Given the description of an element on the screen output the (x, y) to click on. 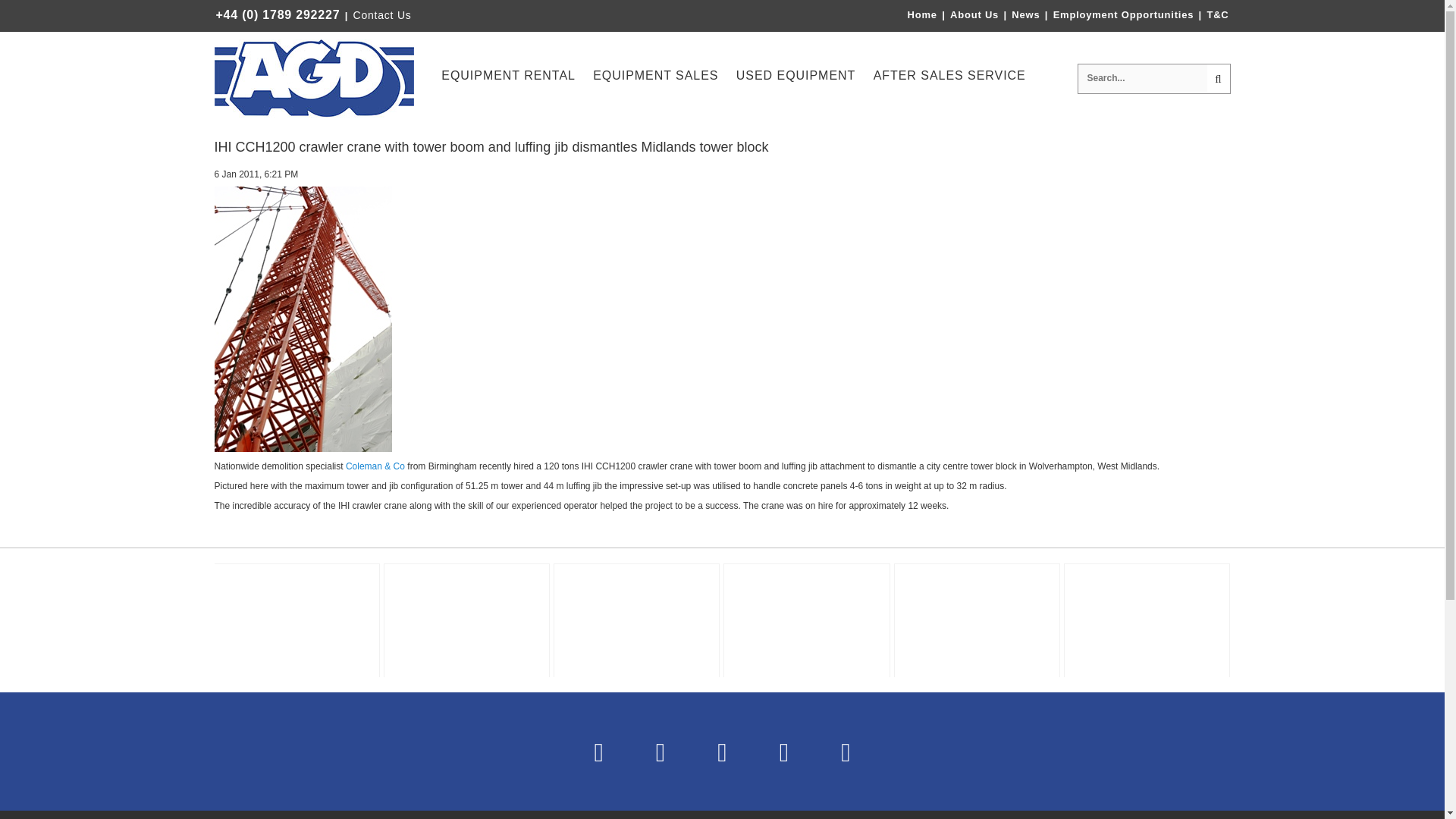
EQUIPMENT SALES (655, 76)
News (1025, 14)
USED EQUIPMENT (796, 76)
About Us (975, 14)
EQUIPMENT RENTAL (508, 76)
Contact Us (382, 15)
Home (922, 14)
Employment Opportunities (1122, 14)
Home Page (313, 78)
